Given the description of an element on the screen output the (x, y) to click on. 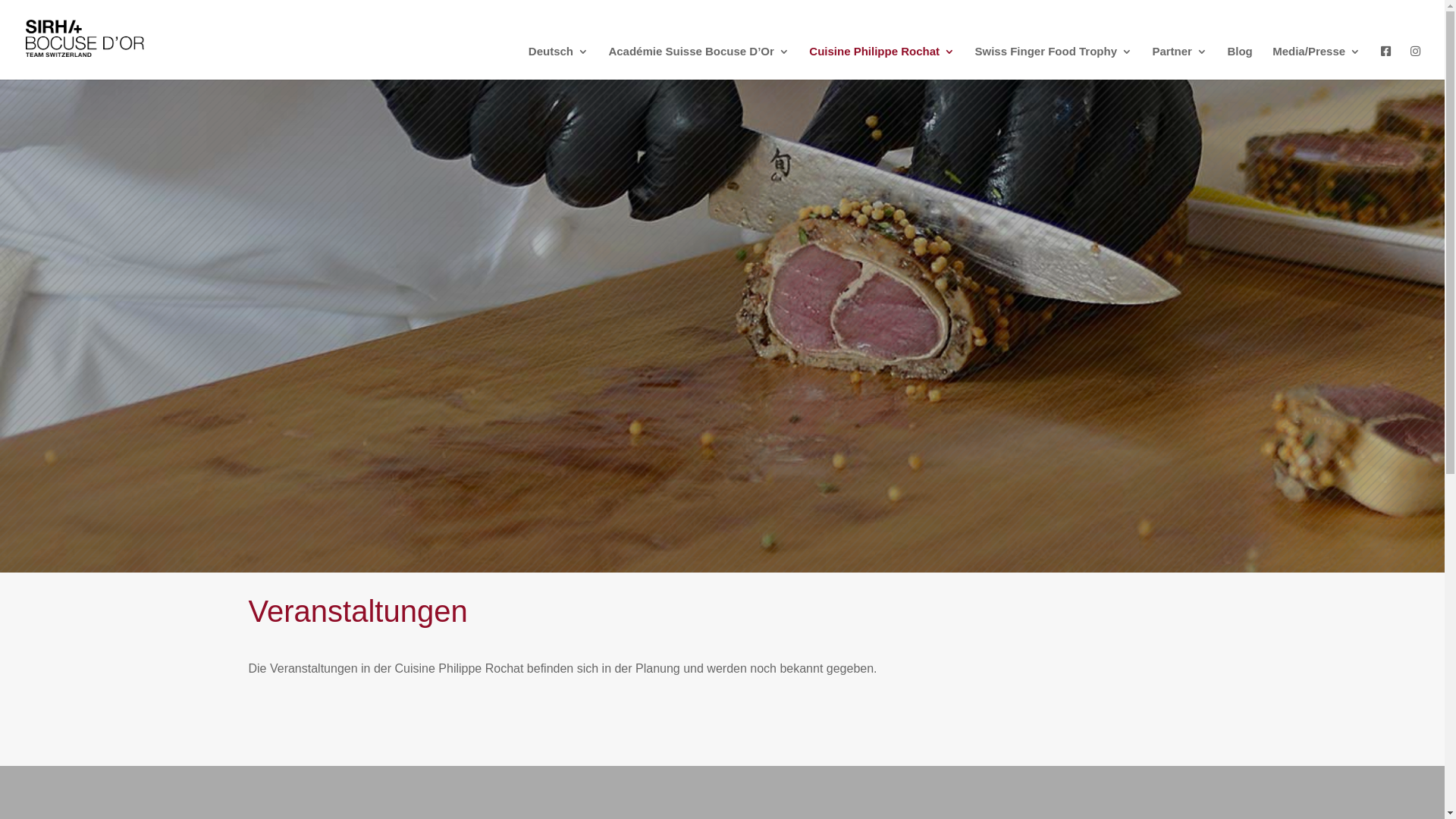
Swiss Finger Food Trophy Element type: text (1053, 62)
Media/Presse Element type: text (1316, 62)
Deutsch Element type: text (558, 62)
Blog Element type: text (1239, 62)
Partner Element type: text (1179, 62)
Cuisine Philippe Rochat Element type: text (881, 62)
